Given the description of an element on the screen output the (x, y) to click on. 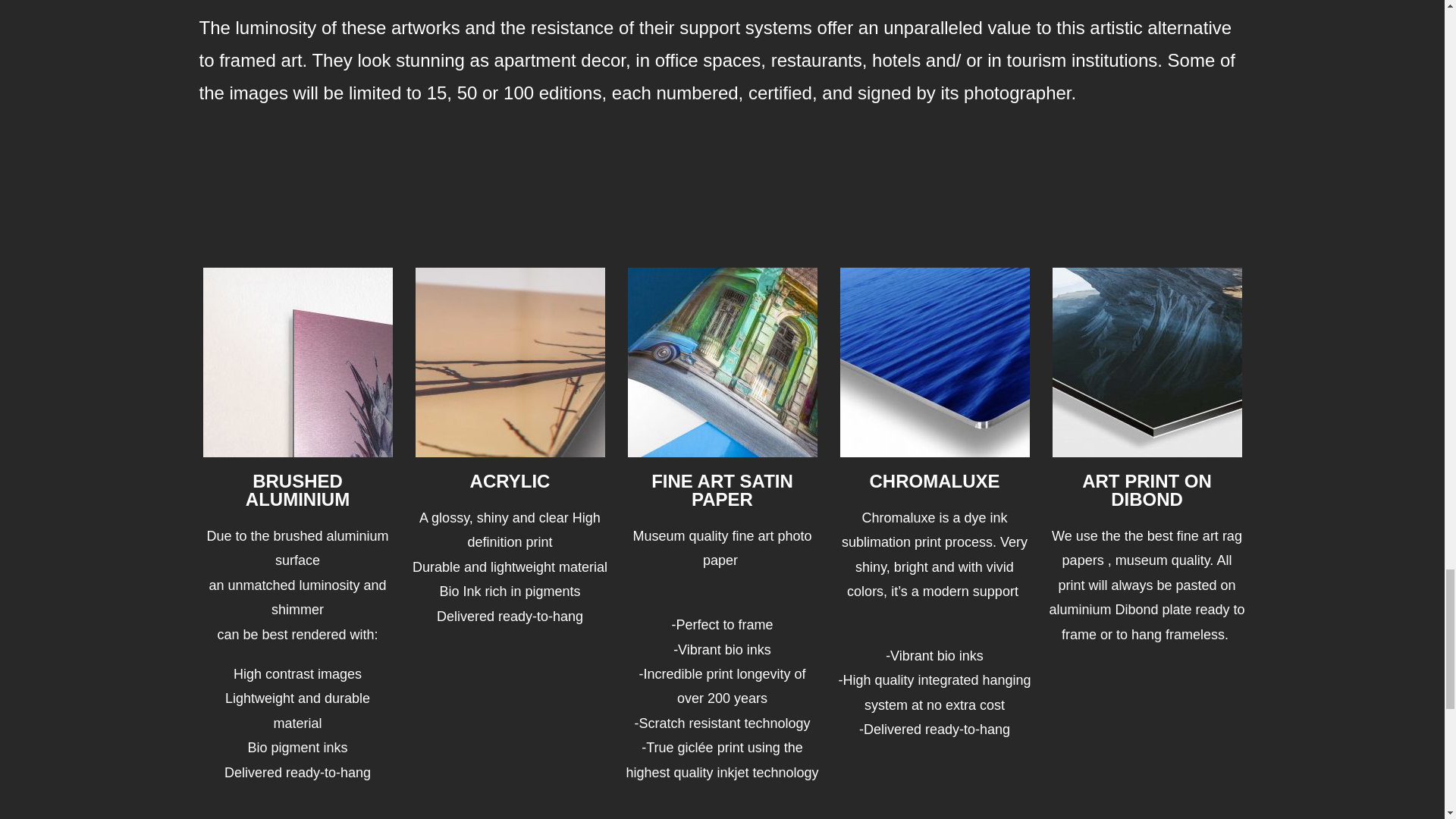
Satin paper print (721, 362)
metal-closeup TOP2 750px (298, 362)
Chromaluxe (934, 362)
